Given the description of an element on the screen output the (x, y) to click on. 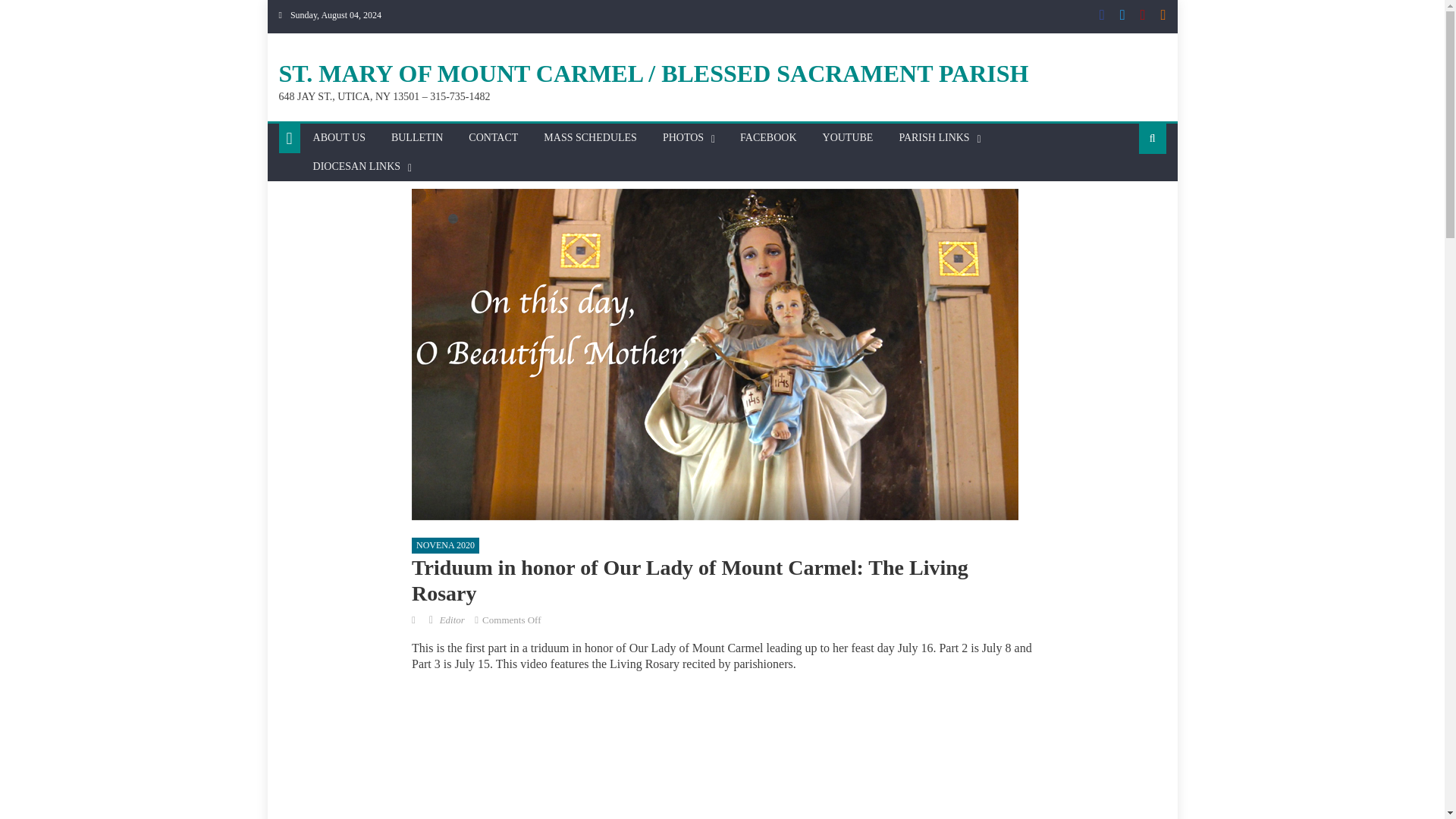
YOUTUBE (847, 137)
MASS SCHEDULES (589, 137)
BULLETIN (417, 137)
CONTACT (493, 137)
NOVENA 2020 WEEK 1 (654, 751)
ABOUT US (339, 137)
FACEBOOK (768, 137)
PHOTOS (682, 137)
PARISH LINKS (932, 137)
